Given the description of an element on the screen output the (x, y) to click on. 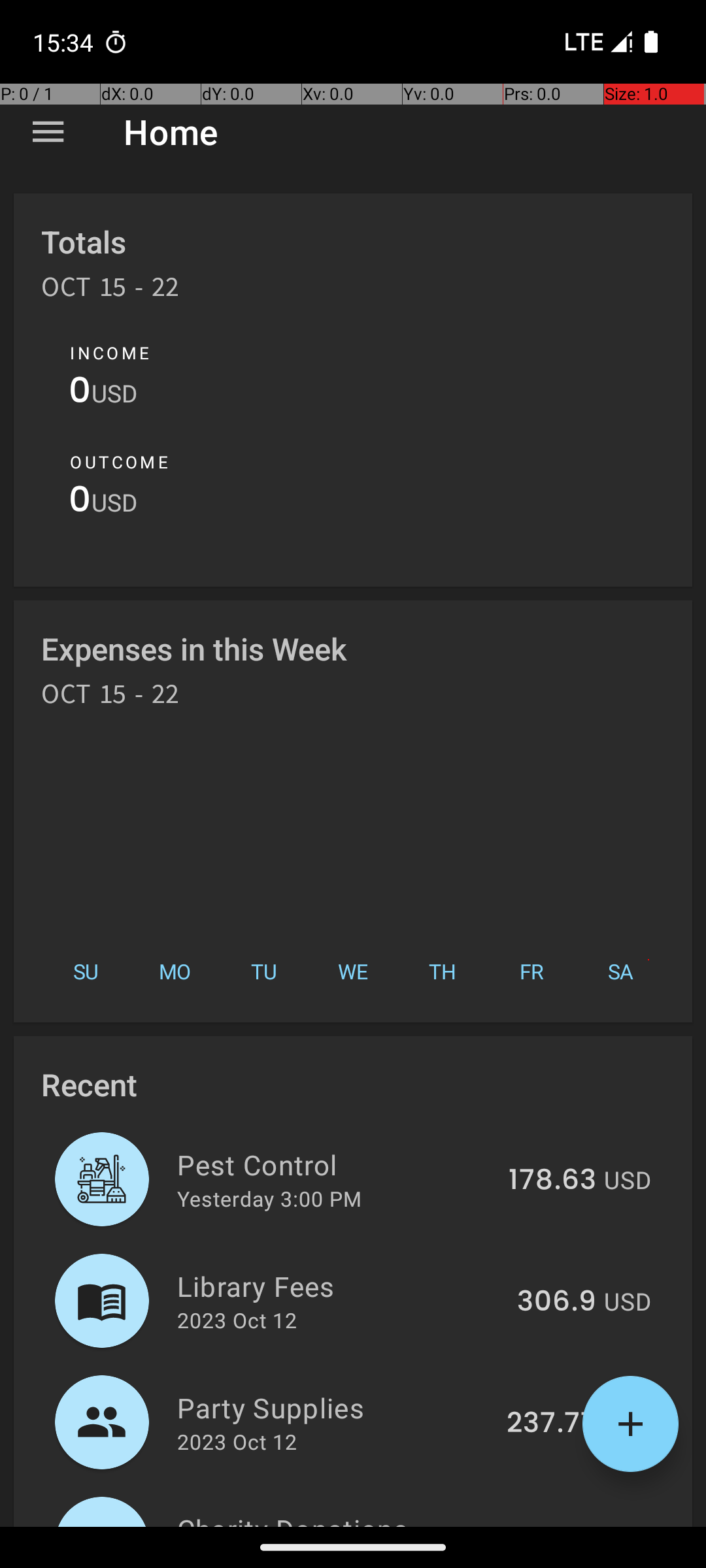
Pest Control Element type: android.widget.TextView (335, 1164)
Yesterday 3:00 PM Element type: android.widget.TextView (269, 1198)
178.63 Element type: android.widget.TextView (551, 1180)
Library Fees Element type: android.widget.TextView (339, 1285)
306.9 Element type: android.widget.TextView (556, 1301)
237.77 Element type: android.widget.TextView (550, 1423)
Charity Donations Element type: android.widget.TextView (334, 1518)
136.39 Element type: android.widget.TextView (551, 1524)
